Given the description of an element on the screen output the (x, y) to click on. 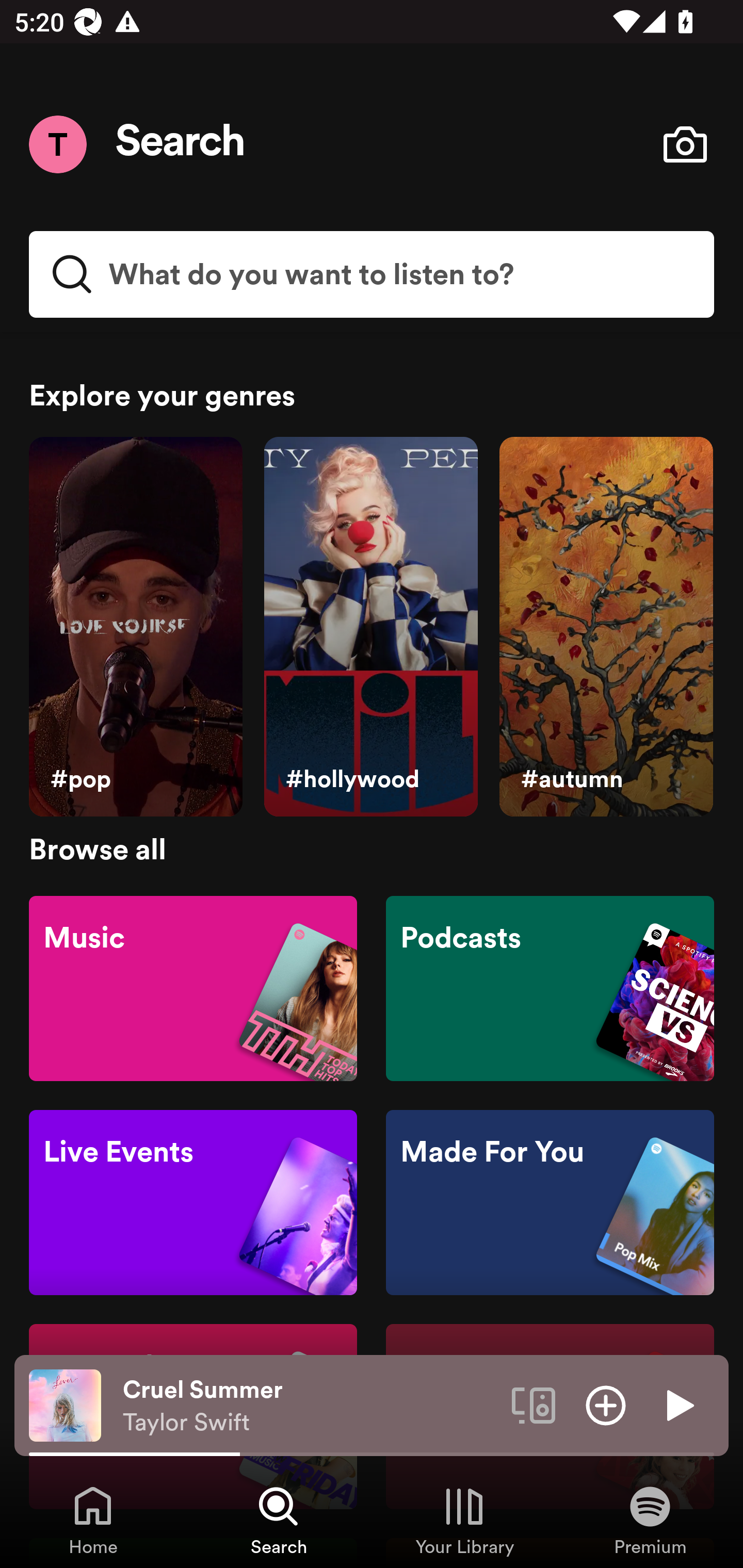
Menu (57, 144)
Open camera (685, 145)
Search (180, 144)
#pop (135, 626)
#hollywood (370, 626)
#autumn (606, 626)
Music (192, 987)
Podcasts (549, 987)
Live Events (192, 1202)
Made For You (549, 1202)
Cruel Summer Taylor Swift (309, 1405)
The cover art of the currently playing track (64, 1404)
Connect to a device. Opens the devices menu (533, 1404)
Add item (605, 1404)
Play (677, 1404)
Home, Tab 1 of 4 Home Home (92, 1519)
Search, Tab 2 of 4 Search Search (278, 1519)
Your Library, Tab 3 of 4 Your Library Your Library (464, 1519)
Premium, Tab 4 of 4 Premium Premium (650, 1519)
